Given the description of an element on the screen output the (x, y) to click on. 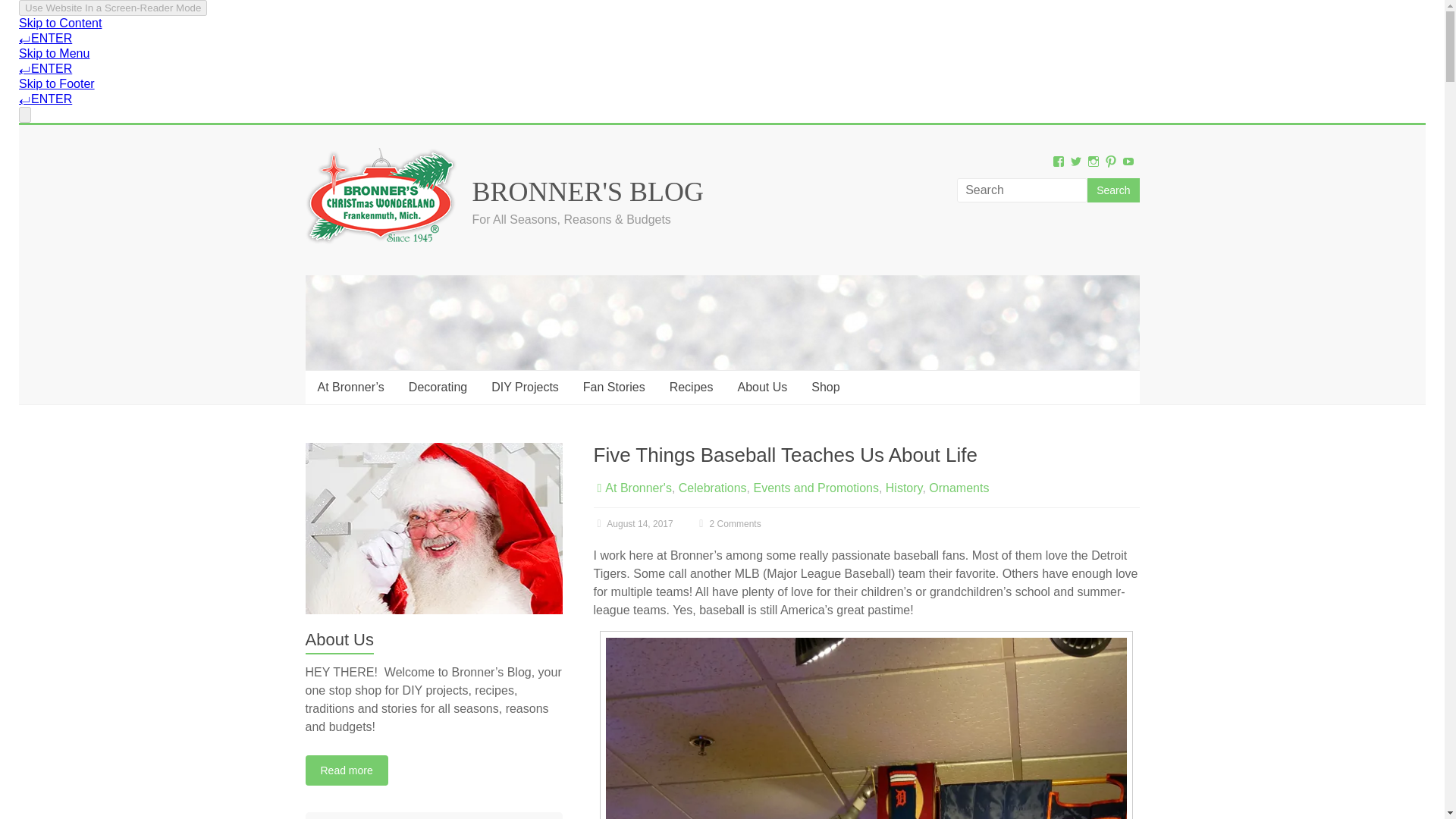
Ornaments (958, 487)
Fan Stories (614, 387)
Events and Promotions (816, 487)
Decorating (437, 387)
Search (1112, 190)
History (904, 487)
Recipes (691, 387)
BRONNER'S BLOG (587, 191)
Search (1112, 190)
Shop (825, 387)
DIY Projects (524, 387)
About Us (762, 387)
BRONNER'S BLOG (587, 191)
2:35 pm (632, 523)
Celebrations (712, 487)
